Given the description of an element on the screen output the (x, y) to click on. 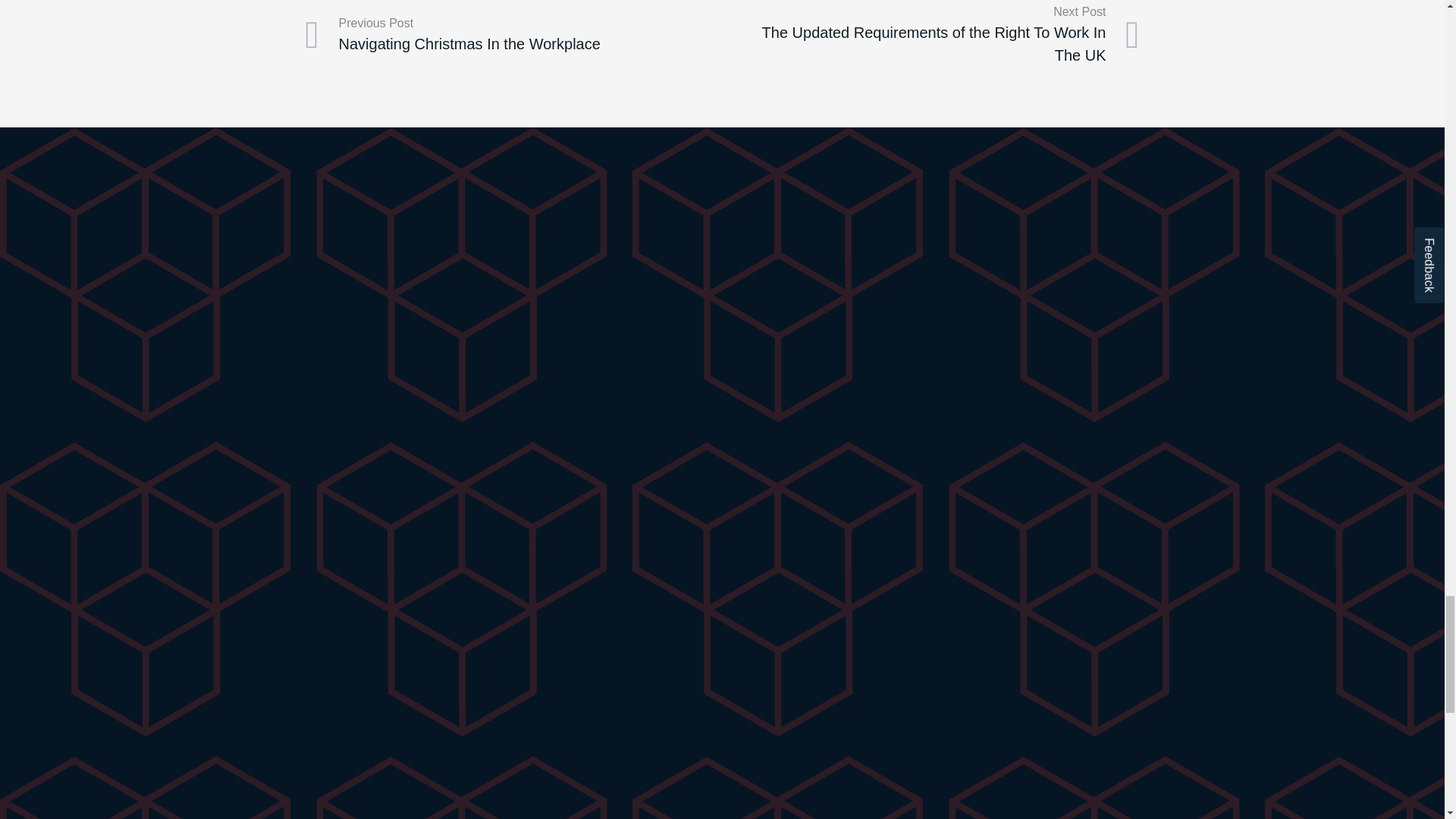
The Updated Requirements of the Right To Work In The UK (930, 34)
Navigating Christmas In the Workplace (513, 34)
